Given the description of an element on the screen output the (x, y) to click on. 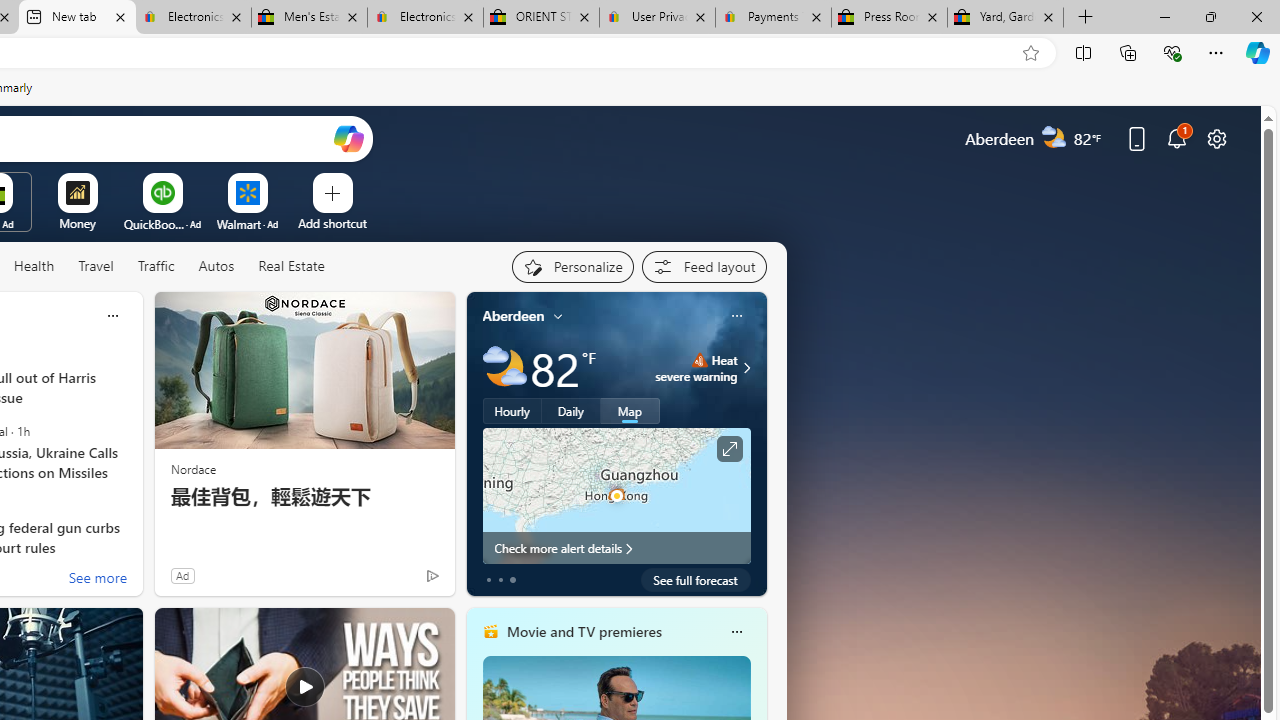
Heat - Severe Heat severe warning (696, 367)
Travel (95, 267)
You're following Newsweek (390, 579)
Autos (215, 265)
